Given the description of an element on the screen output the (x, y) to click on. 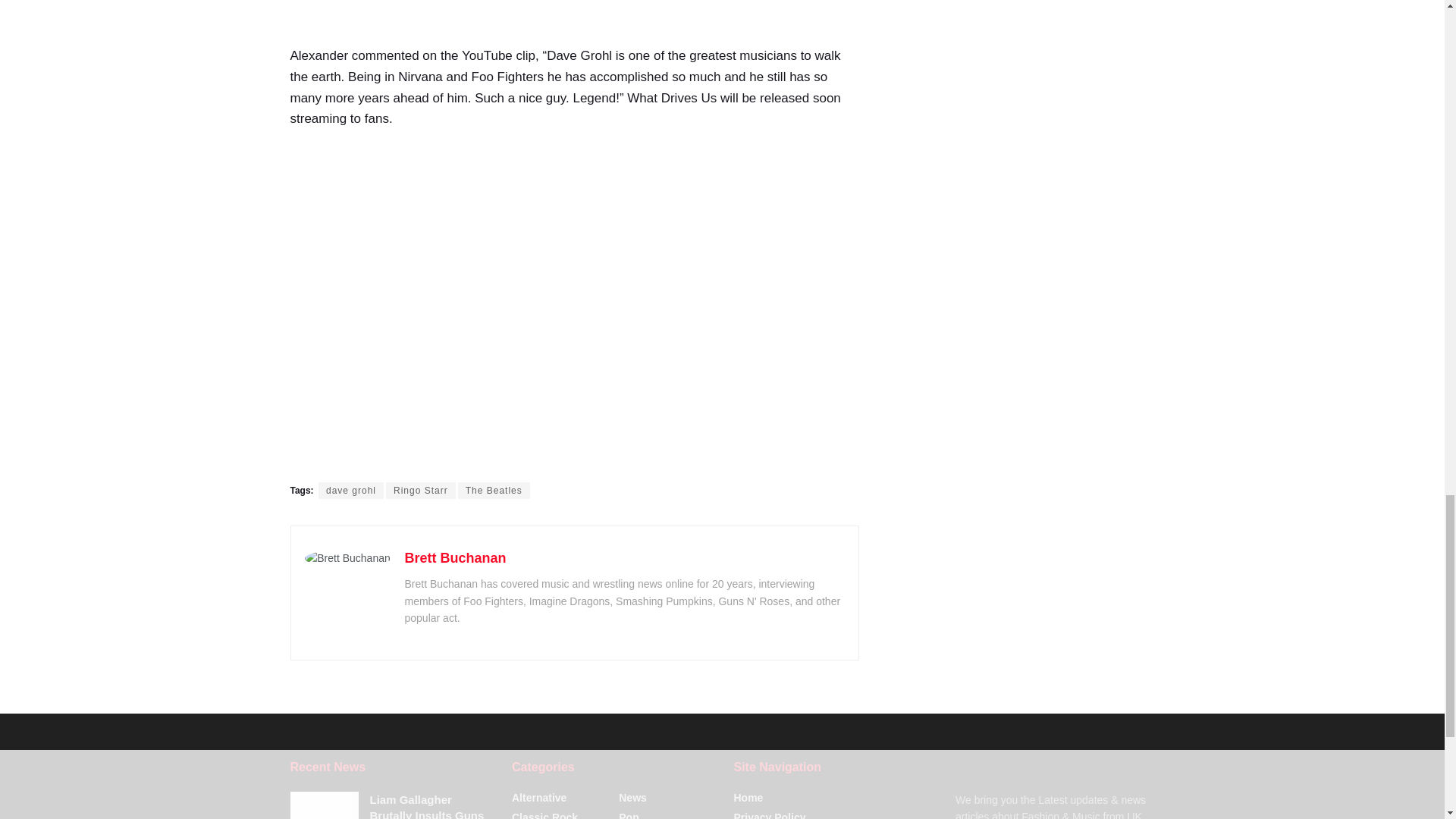
3rd party ad content (574, 19)
